Given the description of an element on the screen output the (x, y) to click on. 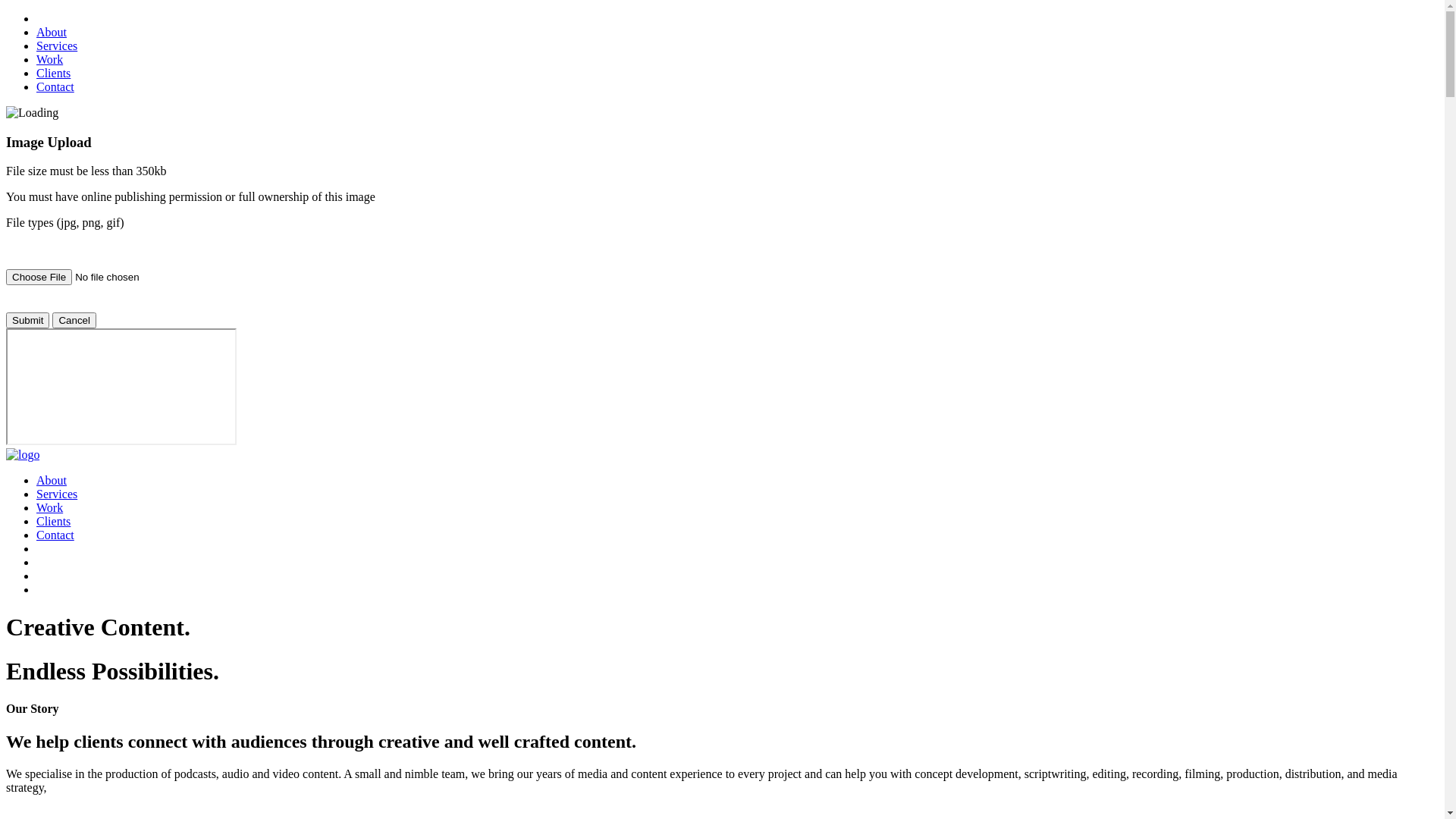
Contact Element type: text (55, 86)
Submit Element type: text (27, 320)
Contact Element type: text (55, 534)
Clients Element type: text (53, 520)
About Element type: text (51, 479)
Cancel Element type: text (74, 320)
Work Element type: text (49, 59)
Services Element type: text (56, 45)
Services Element type: text (56, 493)
About Element type: text (51, 31)
Clients Element type: text (53, 72)
Work Element type: text (49, 507)
